Given the description of an element on the screen output the (x, y) to click on. 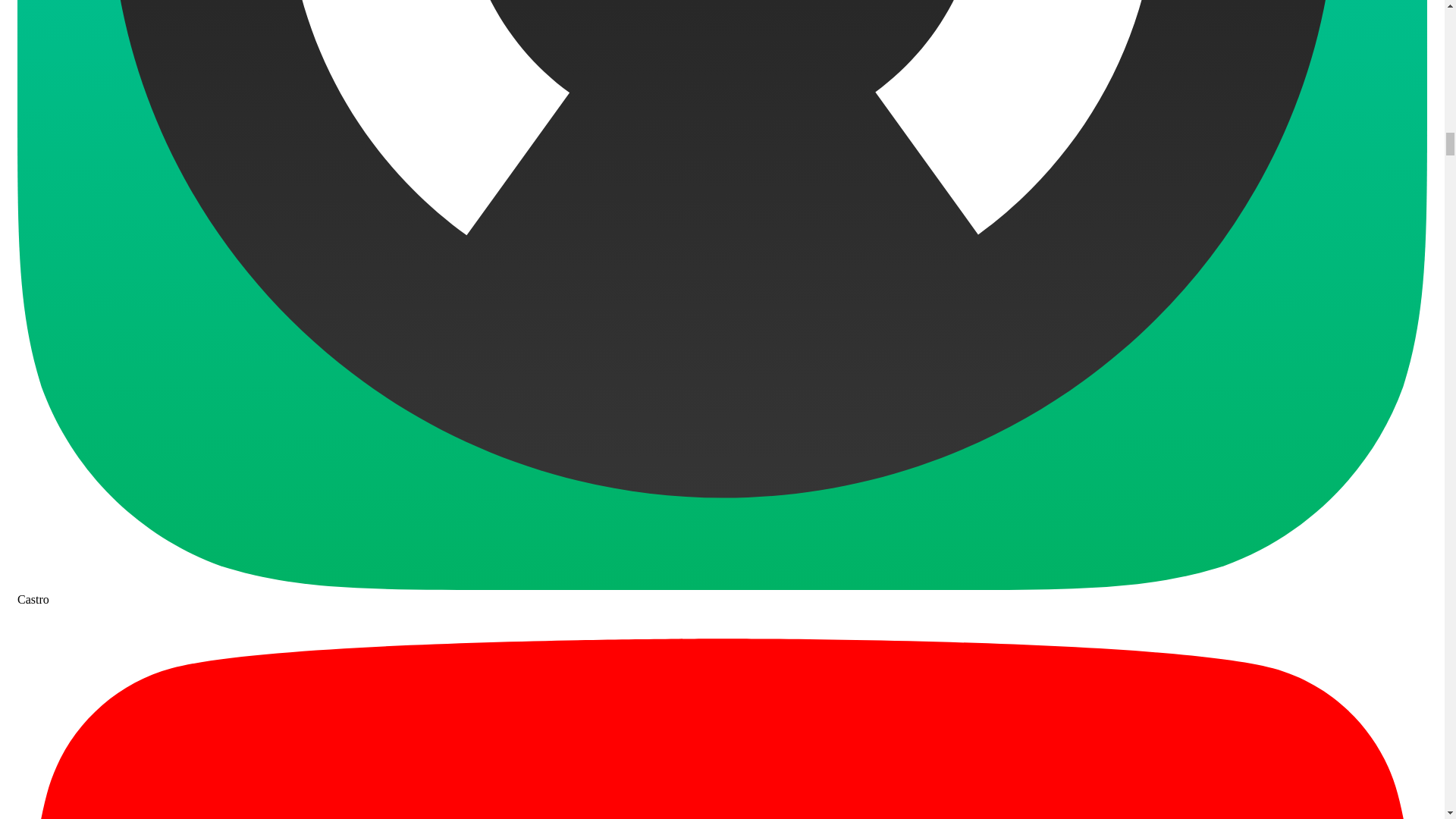
Castro (721, 592)
